Given the description of an element on the screen output the (x, y) to click on. 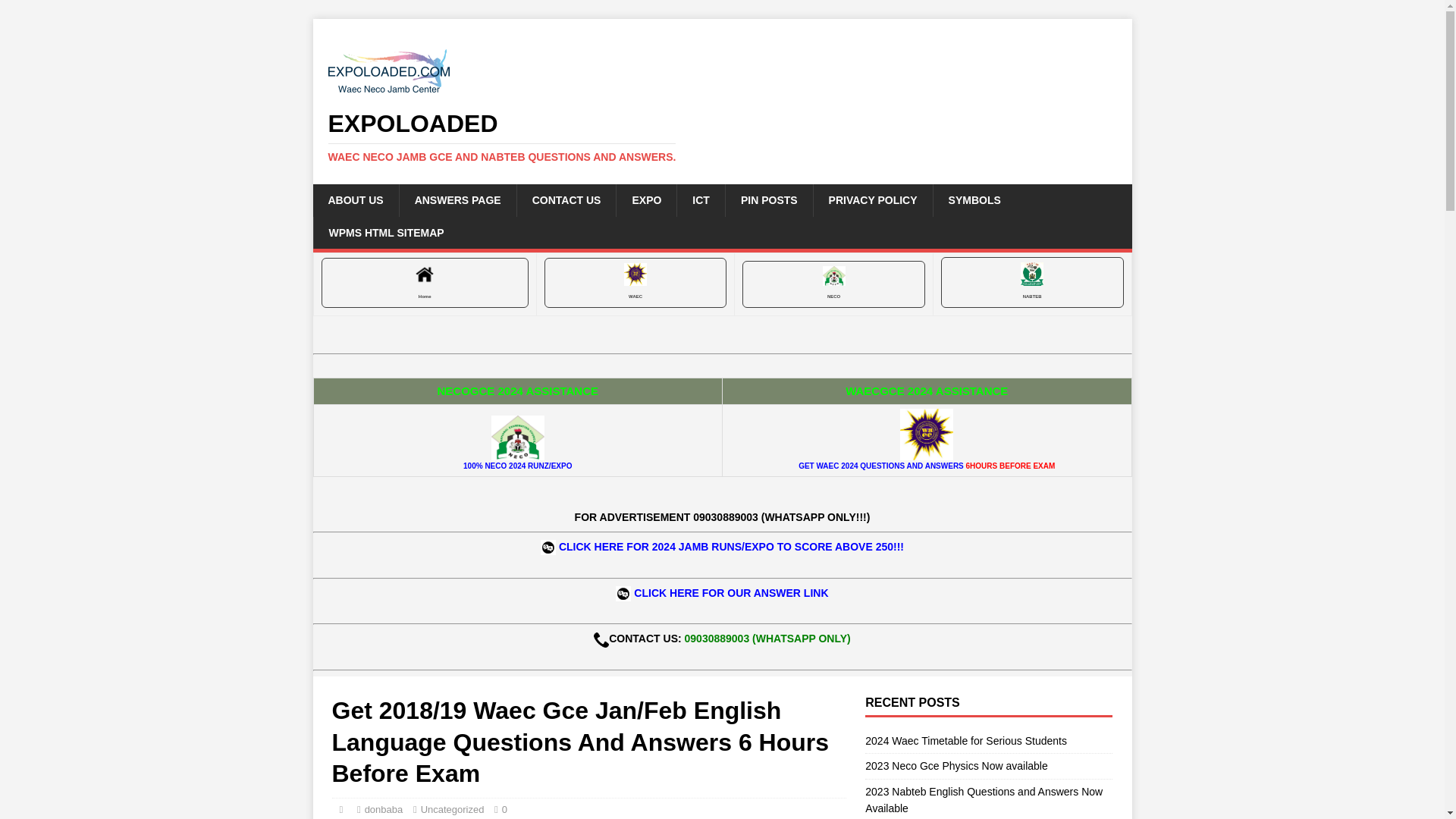
NABTEB (1032, 282)
NECO (833, 284)
PIN POSTS (768, 200)
ANSWERS PAGE (457, 200)
Home (424, 282)
donbaba (384, 808)
CONTACT US (565, 200)
EXPO (646, 200)
ICT (701, 200)
WPMS HTML SITEMAP (385, 232)
